Given the description of an element on the screen output the (x, y) to click on. 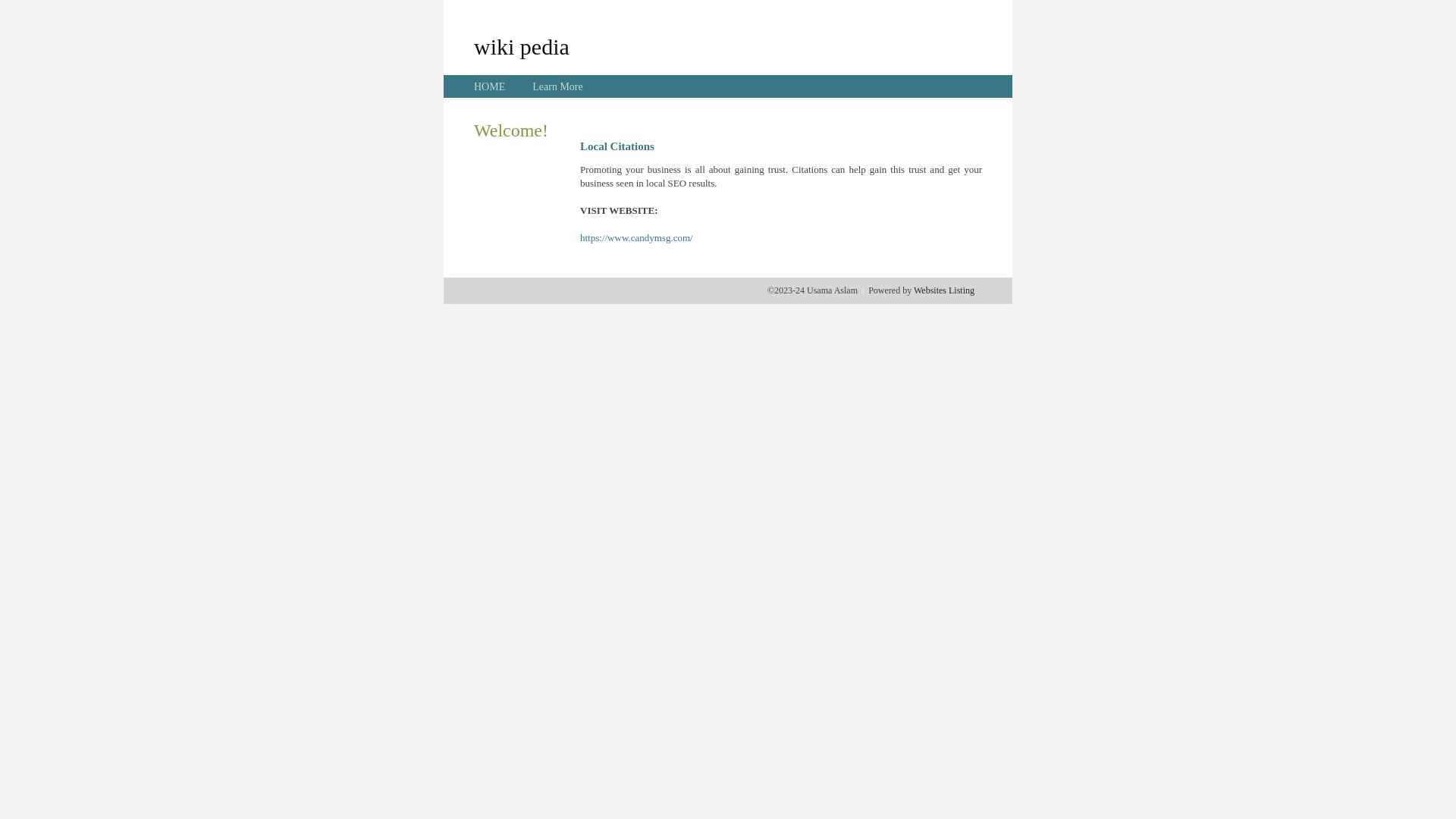
Learn More Element type: text (557, 86)
https://www.candymsg.com/ Element type: text (636, 237)
HOME Element type: text (489, 86)
wiki pedia Element type: text (521, 46)
Websites Listing Element type: text (943, 290)
